Given the description of an element on the screen output the (x, y) to click on. 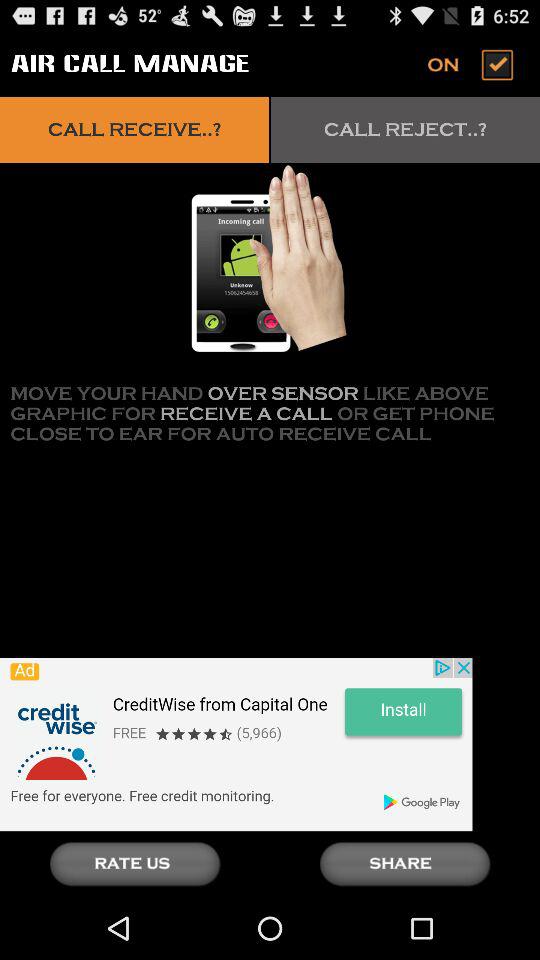
give a rating (135, 863)
